Given the description of an element on the screen output the (x, y) to click on. 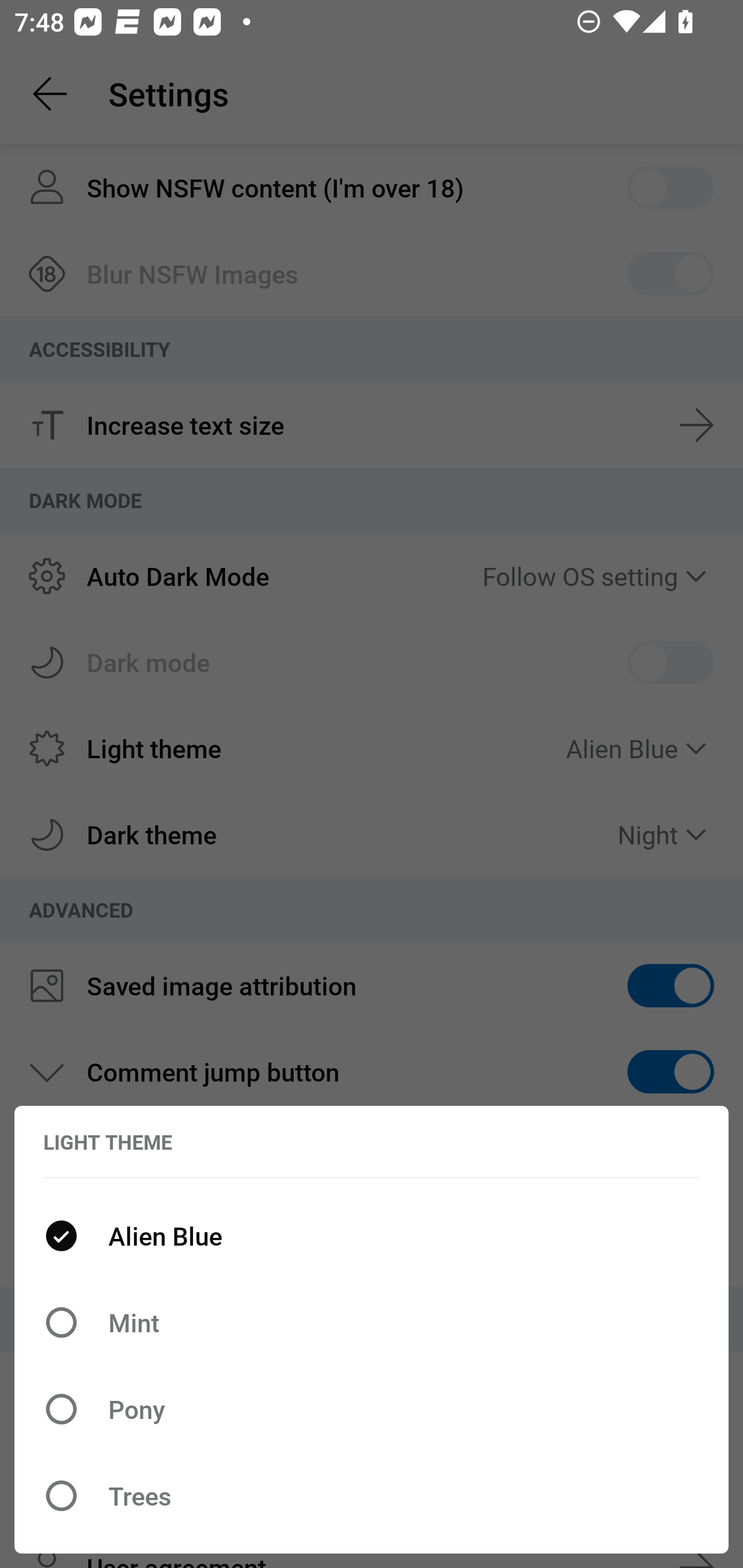
LIGHT THEME (108, 1141)
Alien Blue (371, 1236)
Mint (371, 1322)
Pony (371, 1408)
Trees (371, 1495)
